Given the description of an element on the screen output the (x, y) to click on. 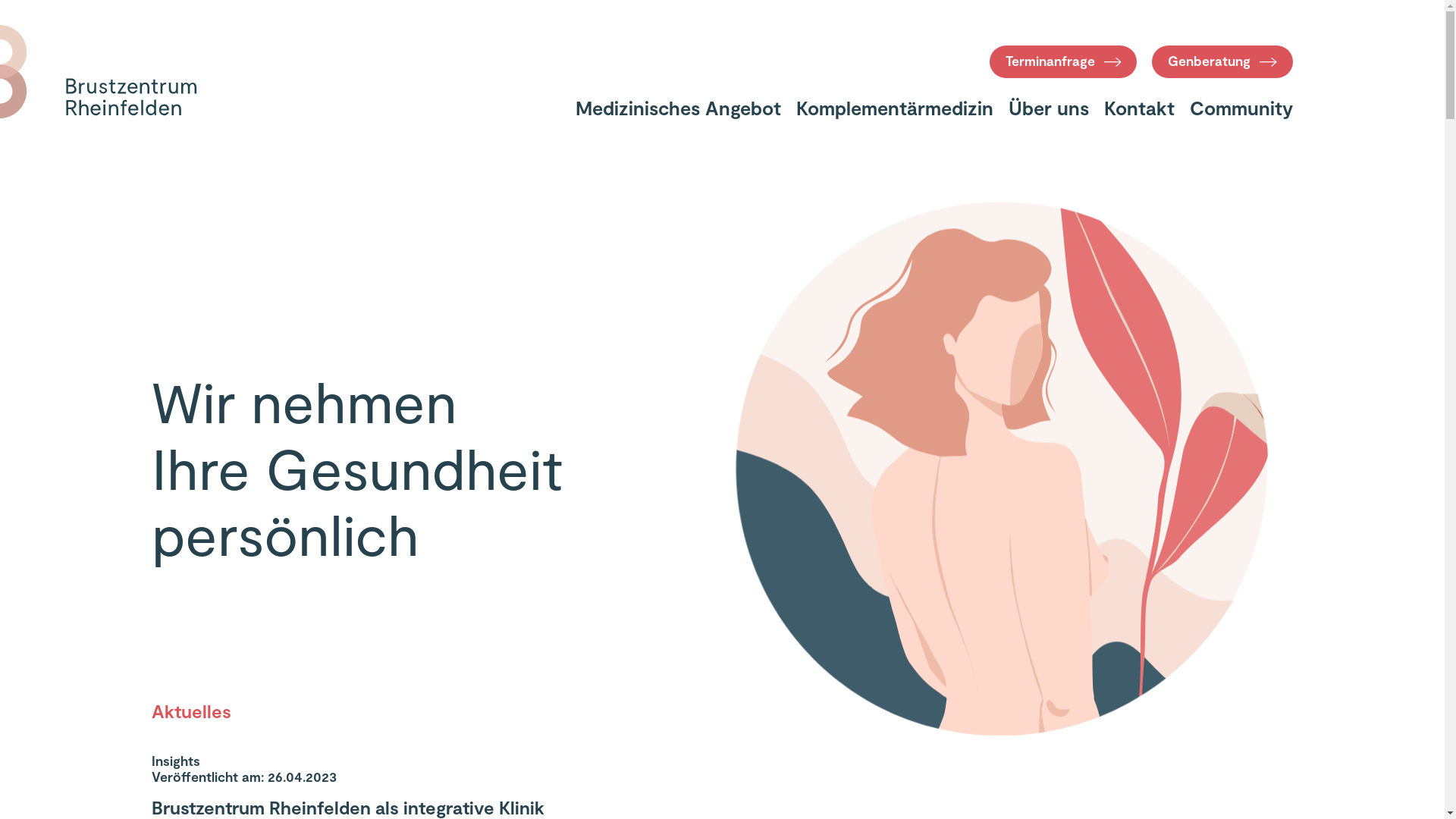
Terminanfrage Element type: text (1063, 61)
Medizinisches Angebot Element type: text (678, 107)
Genberatung Element type: text (1221, 61)
Kontakt Element type: text (1139, 107)
Community Element type: text (1240, 107)
